Given the description of an element on the screen output the (x, y) to click on. 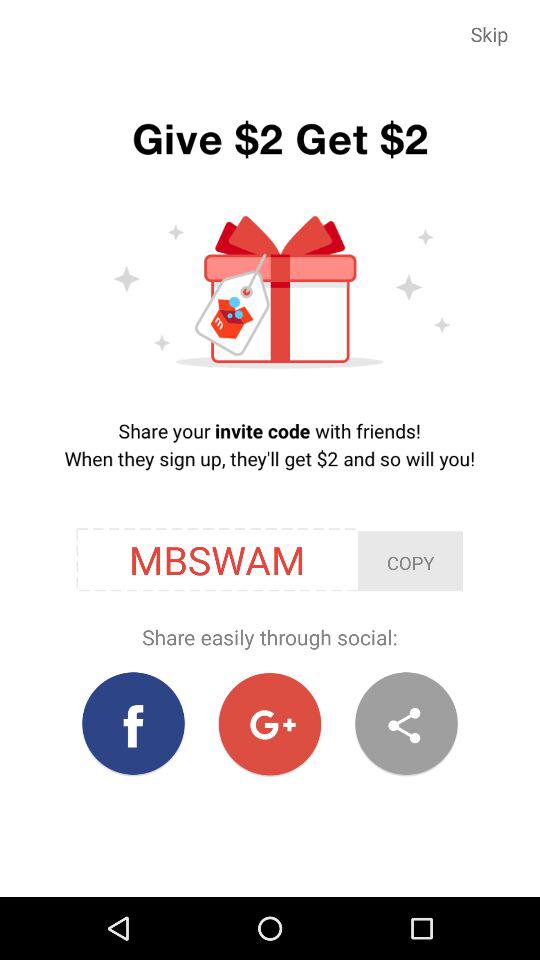
tap the copy on the right (410, 561)
